Given the description of an element on the screen output the (x, y) to click on. 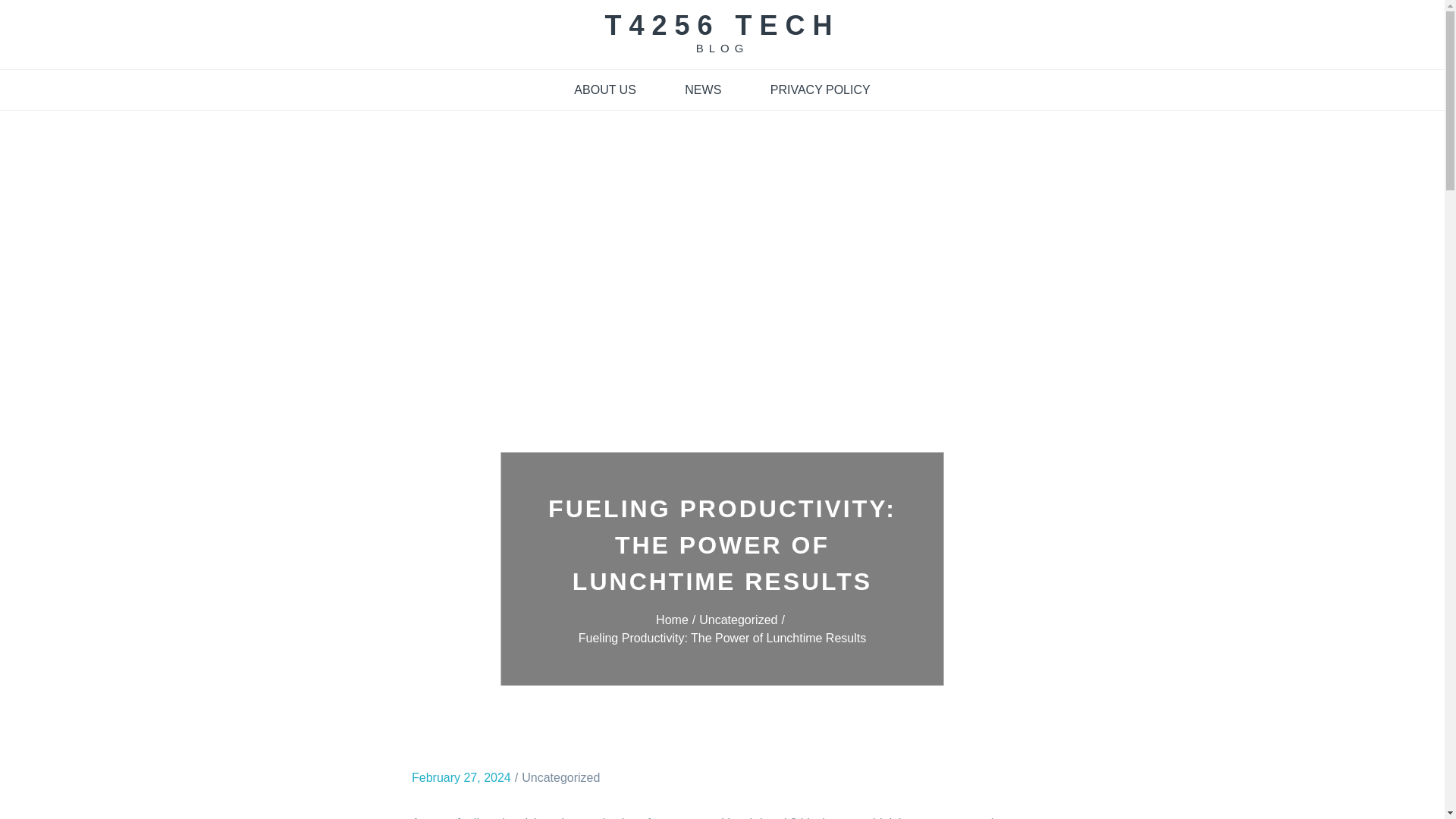
NEWS (703, 89)
T4256 TECH (722, 24)
Uncategorized (560, 776)
ABOUT US (605, 89)
Uncategorized (743, 618)
February 27, 2024 (461, 776)
PRIVACY POLICY (820, 89)
Home (677, 618)
